Given the description of an element on the screen output the (x, y) to click on. 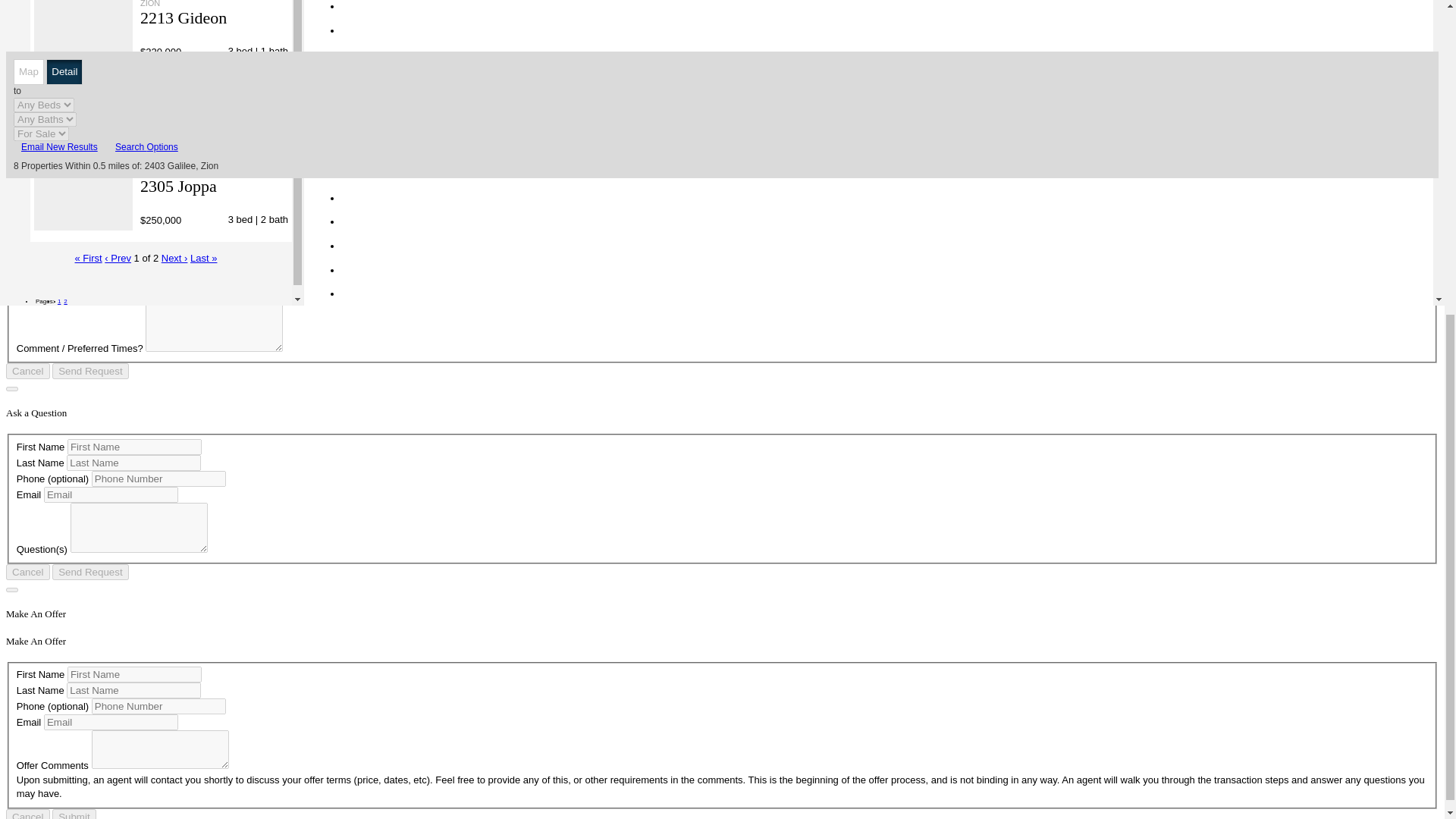
Detail (64, 71)
Map (28, 71)
Buy (293, 43)
In The News (94, 4)
Blog (46, 17)
Rent (329, 43)
